Given the description of an element on the screen output the (x, y) to click on. 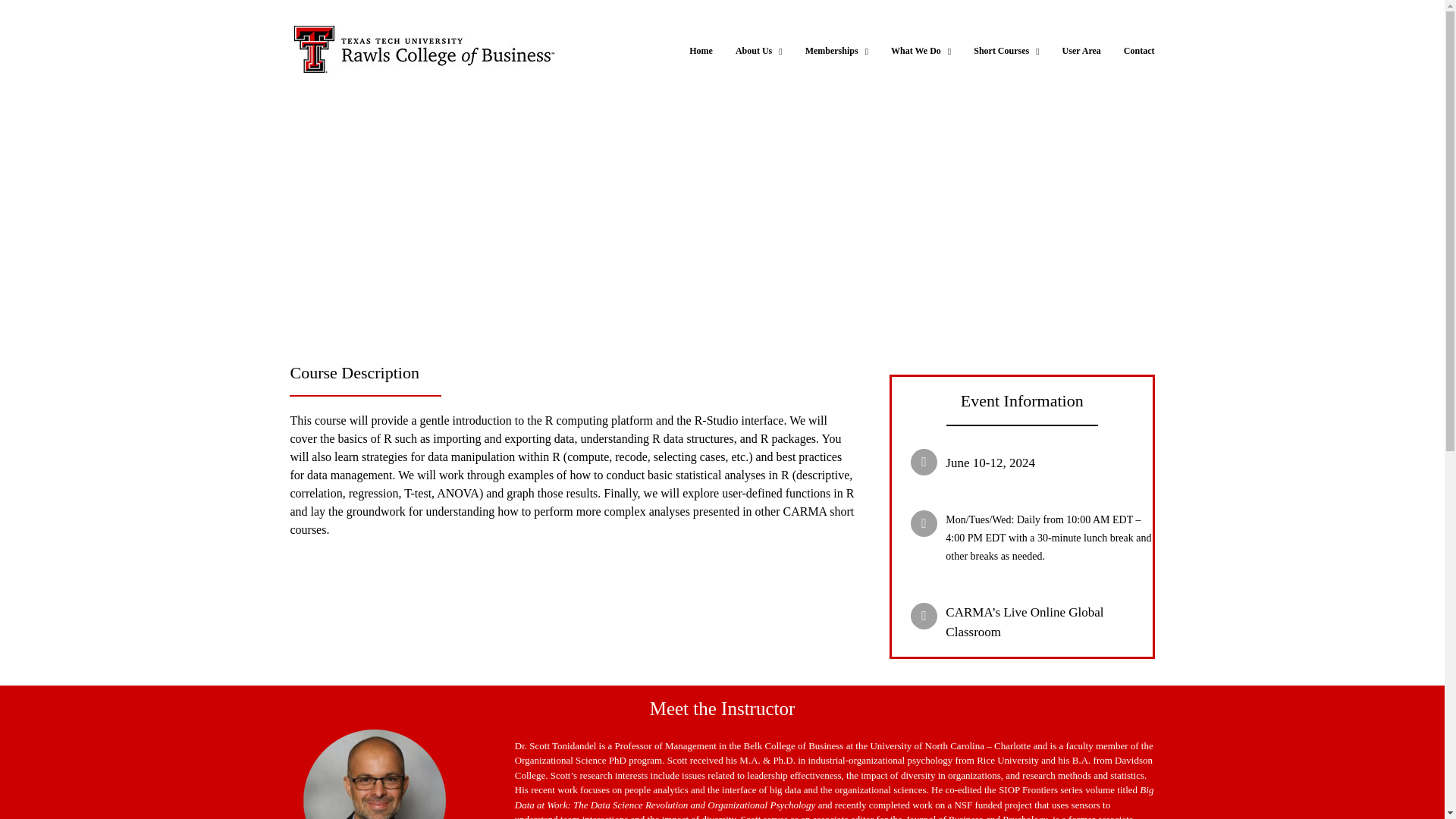
What We Do (920, 50)
Contact (1139, 50)
User Area (1081, 50)
SC Pictures (375, 765)
Short Courses (1006, 50)
About Us (759, 50)
Memberships (836, 50)
Home (700, 50)
